Given the description of an element on the screen output the (x, y) to click on. 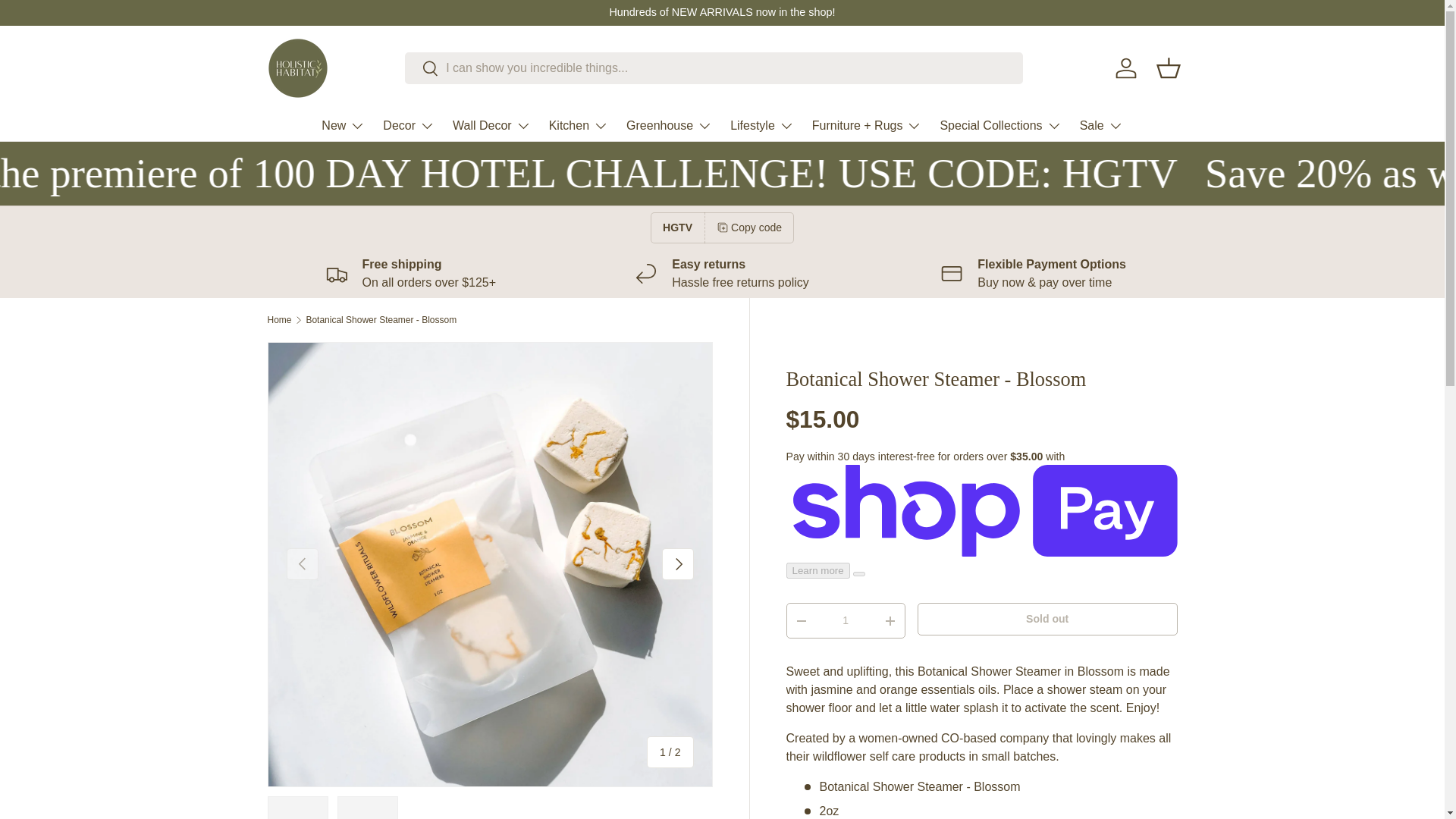
Skip to content (68, 21)
Log in (1124, 68)
Basket (1168, 68)
Search (421, 68)
Decor (407, 125)
1 (845, 620)
New (343, 125)
